Given the description of an element on the screen output the (x, y) to click on. 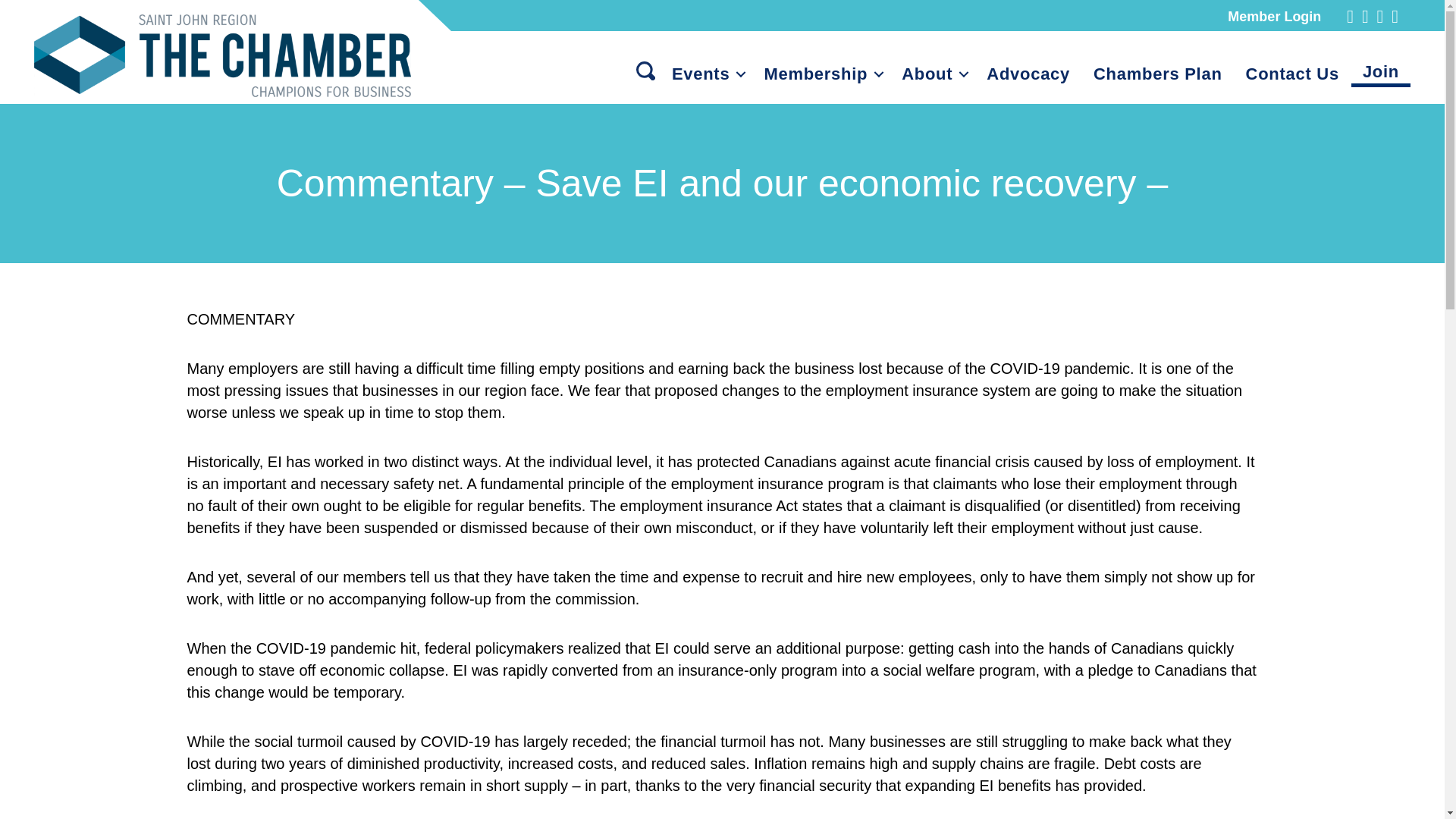
Image 18 (221, 55)
About (931, 77)
Join (1380, 74)
Membership (820, 77)
Contact Us (1292, 77)
Chambers Plan (1157, 77)
Search (644, 72)
Events (706, 77)
Member Login (1273, 16)
Advocacy (1028, 77)
